Given the description of an element on the screen output the (x, y) to click on. 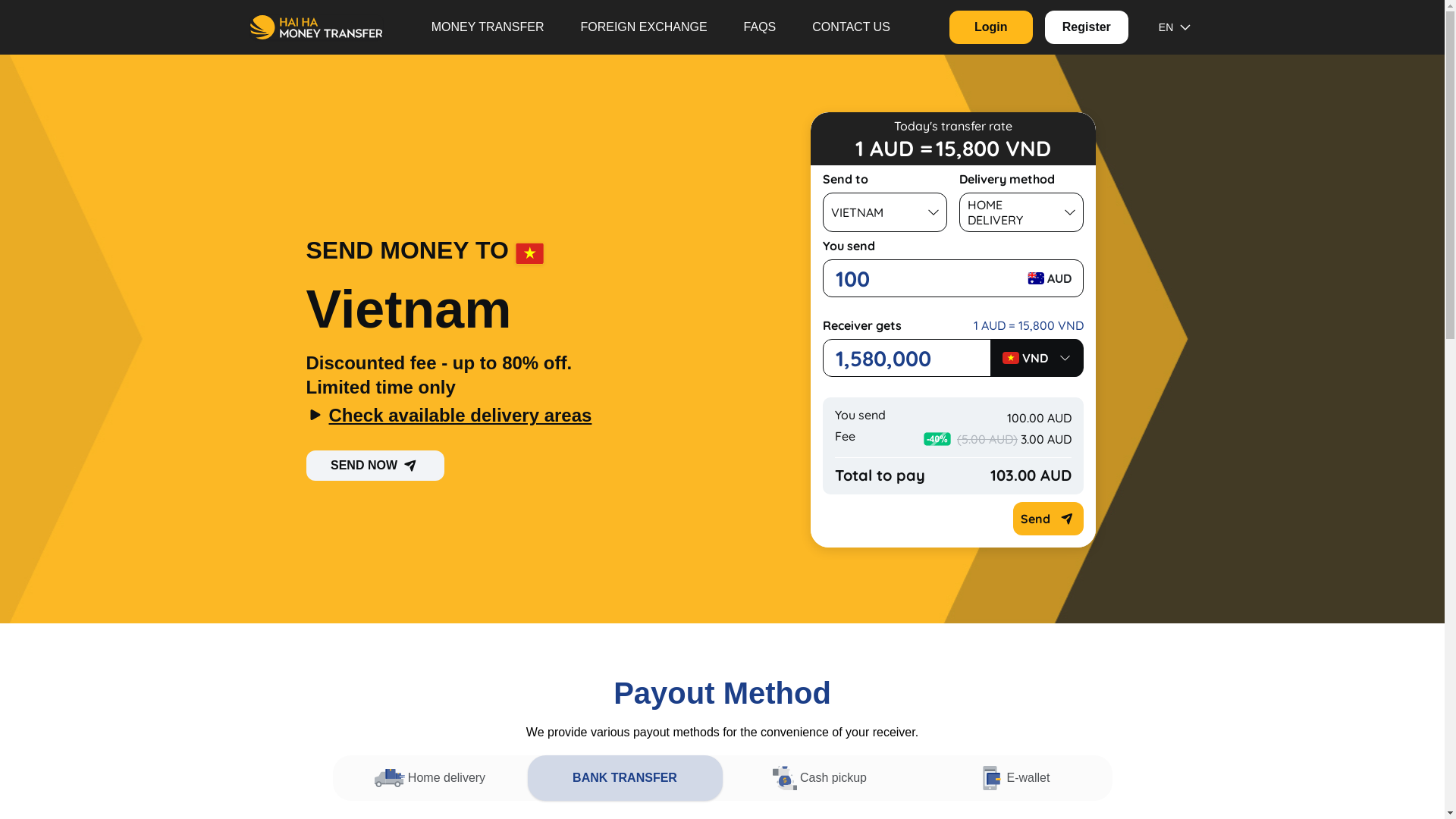
Calculator Form Element type: hover (952, 329)
Register Element type: text (1086, 26)
BANK TRANSFER Element type: text (624, 777)
E-wallet Element type: text (1014, 777)
Cash pickup Element type: text (818, 777)
Check available delivery areas Element type: text (499, 415)
MONEY TRANSFER Element type: text (487, 27)
FAQS Element type: text (759, 27)
FOREIGN EXCHANGE Element type: text (642, 27)
Login Element type: text (990, 26)
CONTACT US Element type: text (850, 27)
Home delivery Element type: text (429, 777)
SEND NOW Element type: text (375, 465)
